Given the description of an element on the screen output the (x, y) to click on. 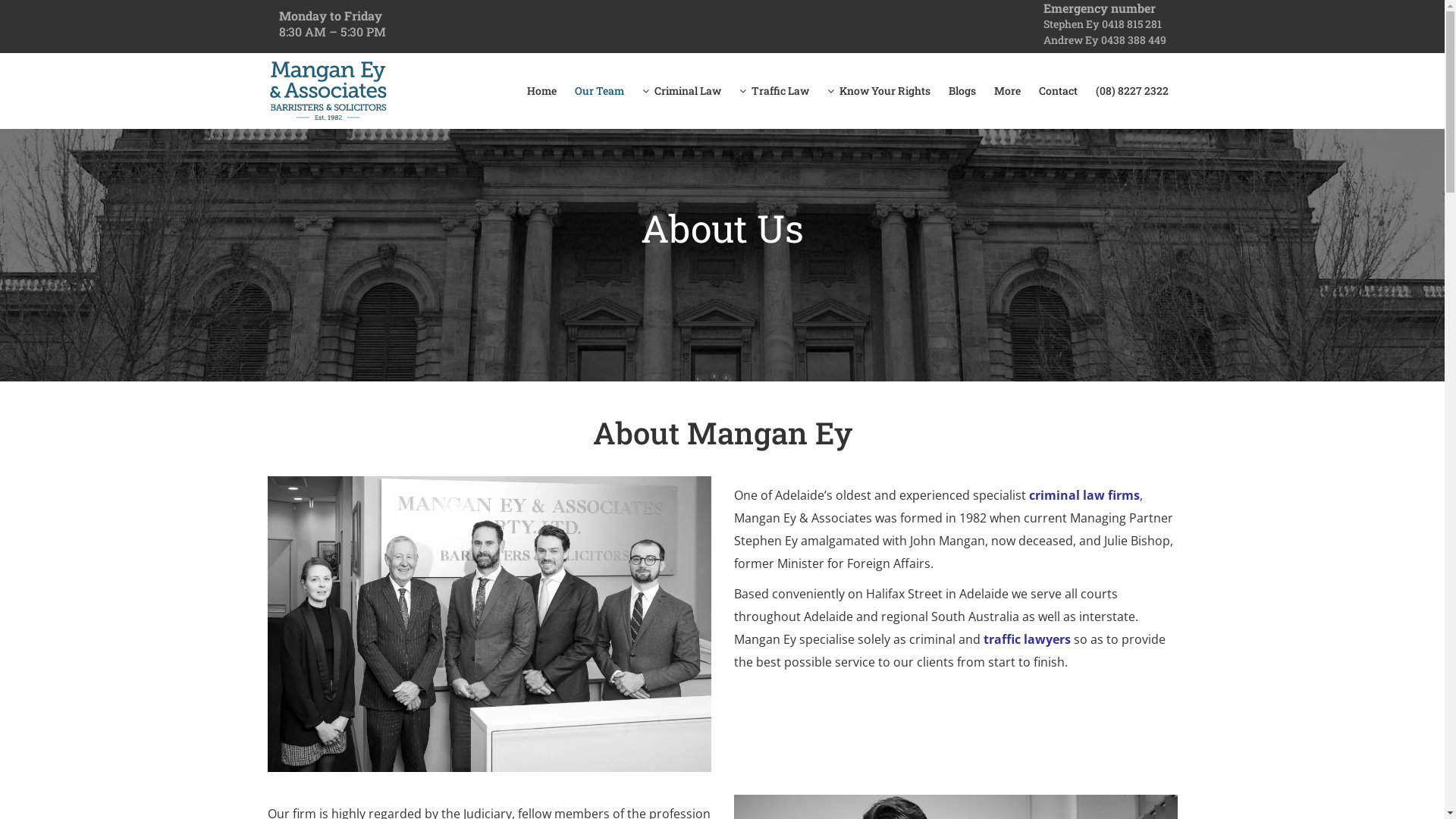
0418 815 281 Element type: text (1131, 23)
Home Element type: text (540, 90)
(08) 8227 2322 Element type: text (1130, 90)
0438 388 449 Element type: text (1133, 39)
Hi-Res B&W Group Shot-6 Element type: hover (488, 623)
Our Team Element type: text (599, 90)
Traffic Law Element type: text (773, 90)
criminal law firms Element type: text (1083, 494)
Contact Element type: text (1057, 90)
Know Your Rights Element type: text (877, 90)
Blogs Element type: text (961, 90)
traffic lawyers Element type: text (1024, 638)
More Element type: text (1006, 90)
Criminal Law Element type: text (680, 90)
